Given the description of an element on the screen output the (x, y) to click on. 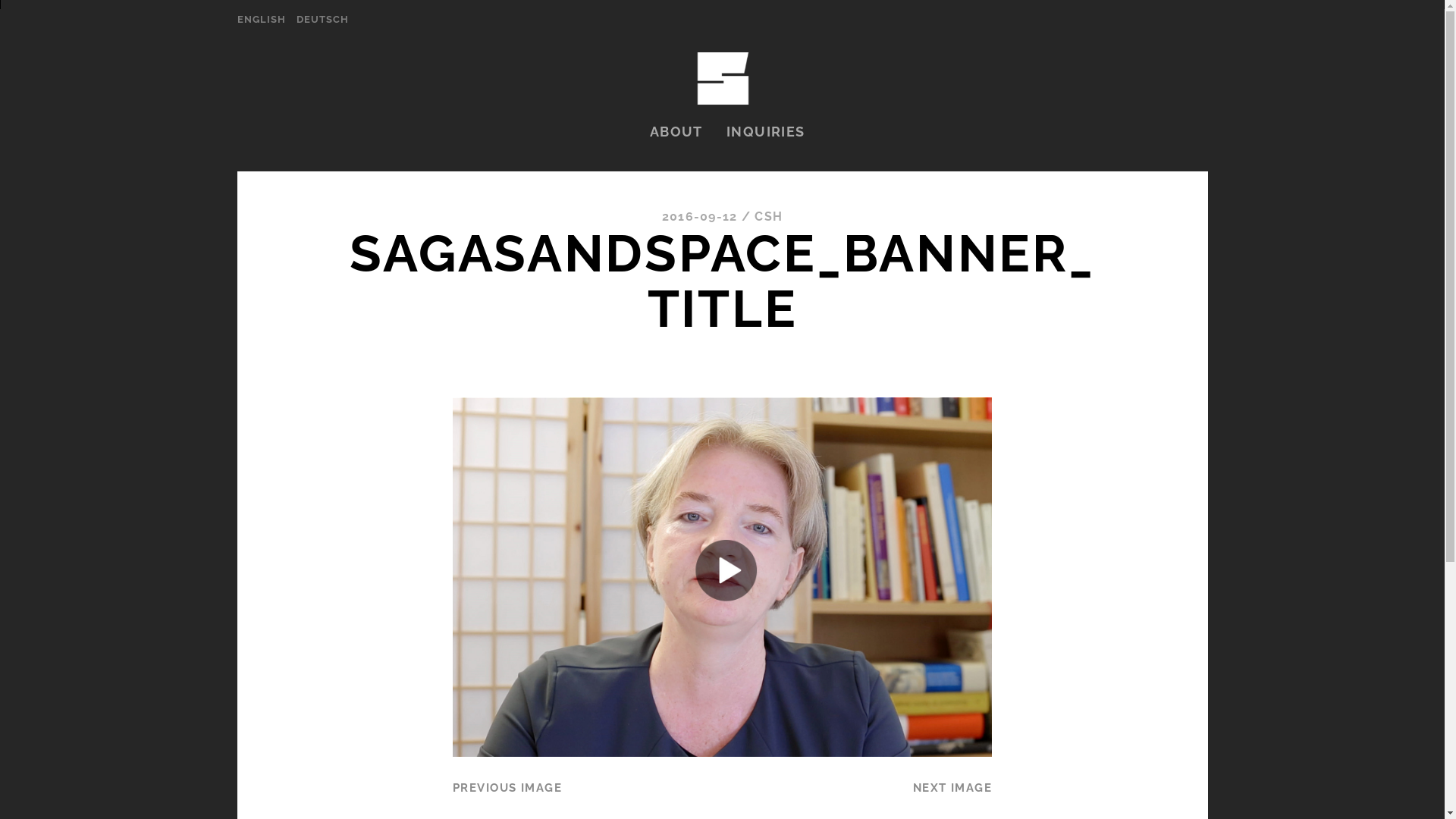
DEUTSCH Element type: text (322, 19)
NEXT IMAGE Element type: text (952, 787)
INQUIRIES Element type: text (765, 131)
CSH Element type: text (768, 216)
ABOUT Element type: text (675, 131)
ENGLISH Element type: text (260, 19)
PREVIOUS IMAGE Element type: text (506, 787)
